Given the description of an element on the screen output the (x, y) to click on. 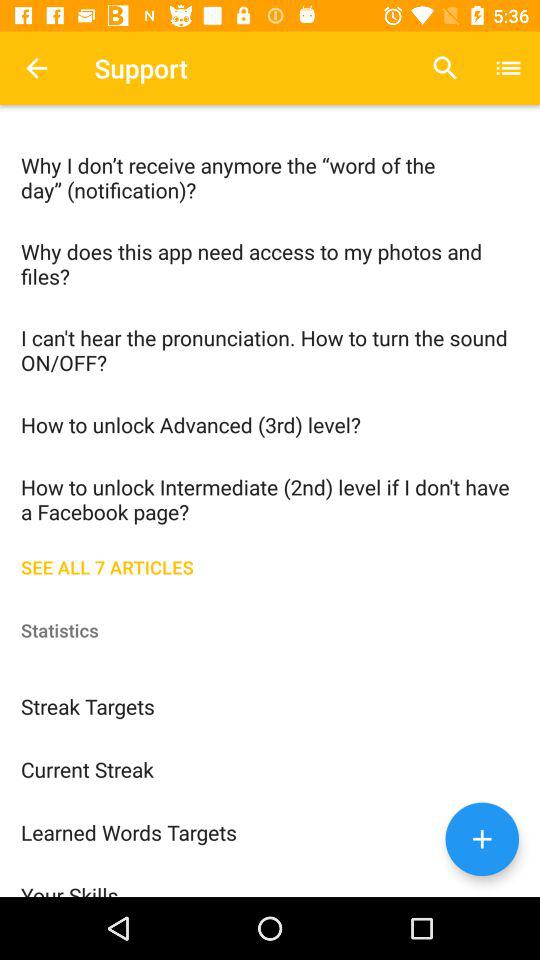
open the item above faqs icon (36, 68)
